Given the description of an element on the screen output the (x, y) to click on. 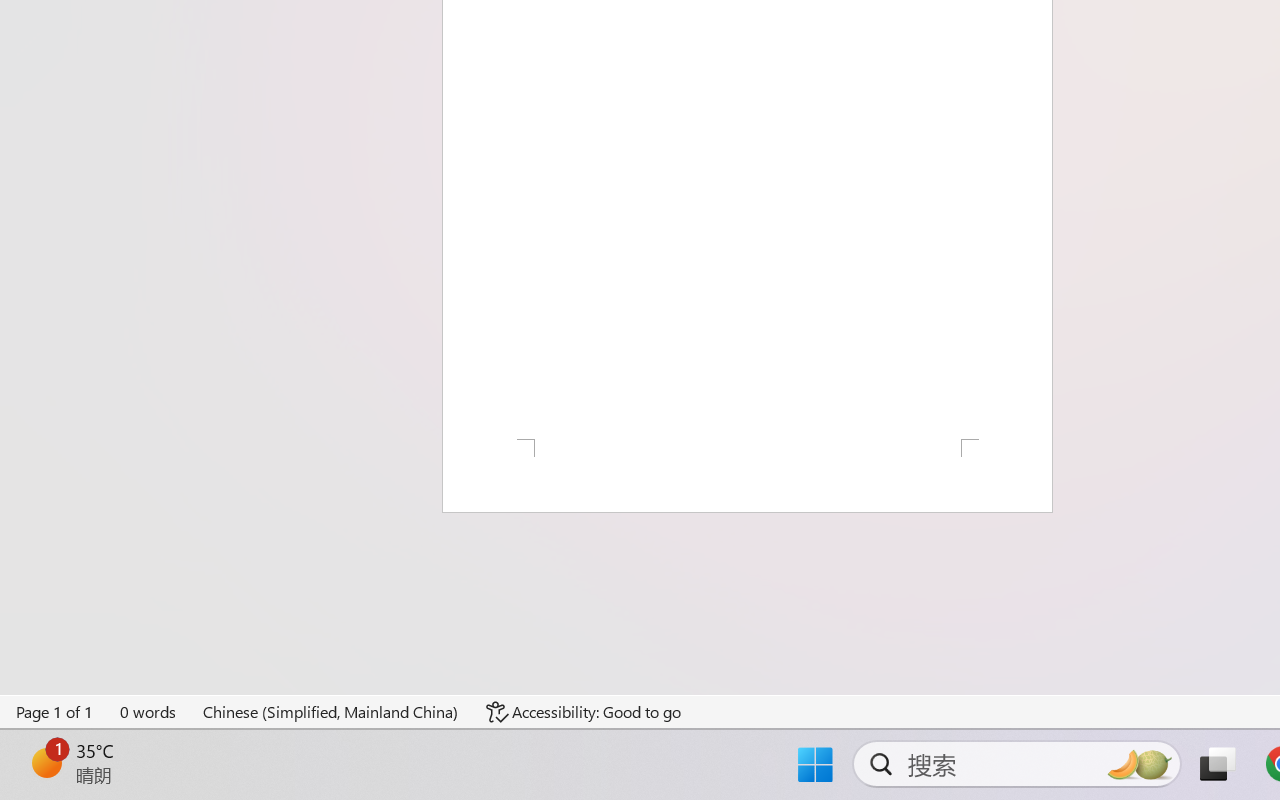
Language Chinese (Simplified, Mainland China) (331, 712)
